Given the description of an element on the screen output the (x, y) to click on. 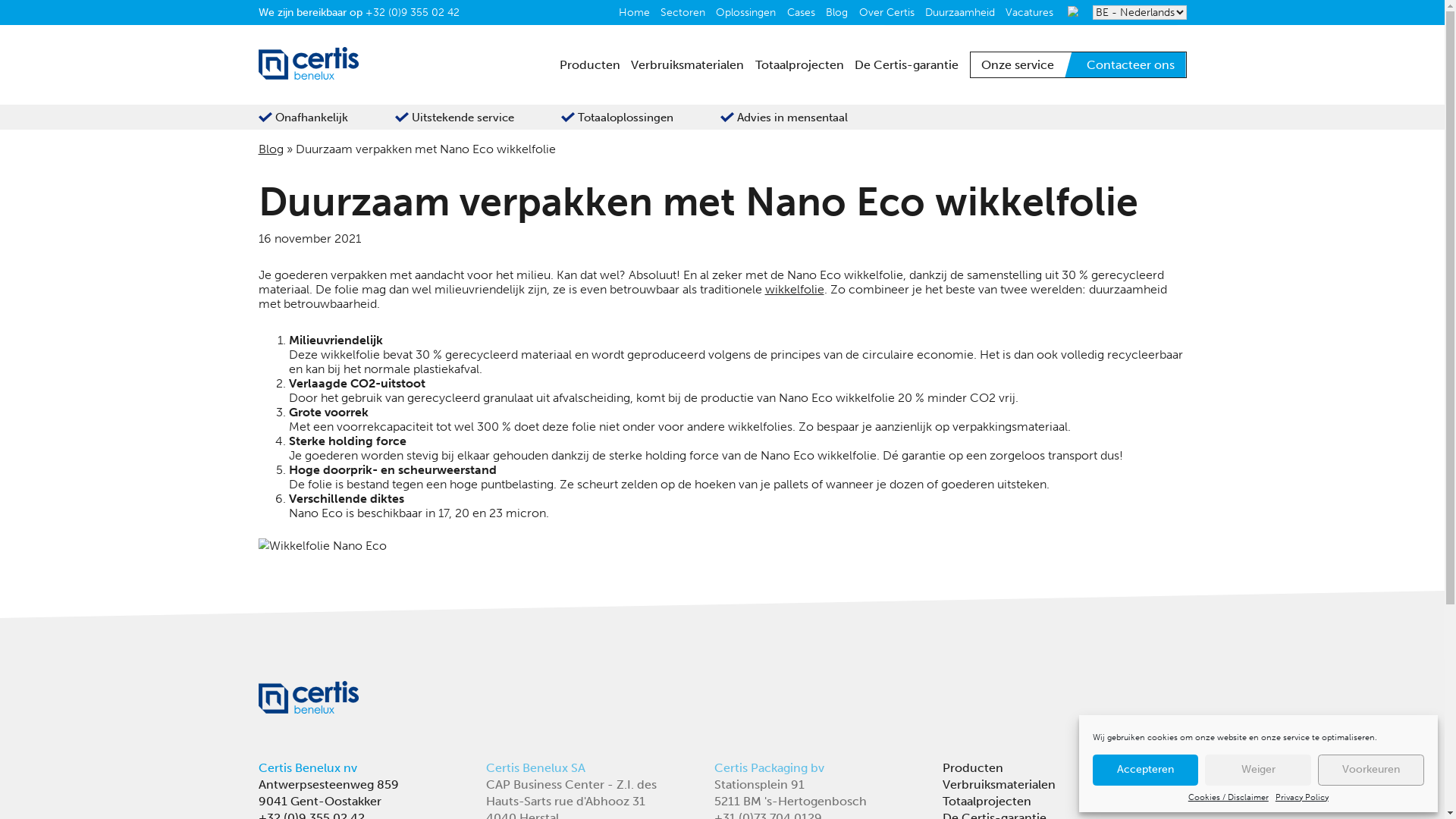
Oplossingen Element type: text (834, 13)
Home Element type: text (710, 13)
Blog Element type: text (935, 13)
Verbruiksmaterialen Element type: text (770, 71)
Duurzaamheid Element type: text (1072, 13)
Over Certis Element type: text (990, 13)
Vacatures Element type: text (1150, 13)
De Certis-garantie Element type: text (1012, 71)
Contacteer ons Element type: text (1250, 71)
We zijn bereikbaar op +32 (0)9 355 02 42 Element type: text (397, 13)
Cases Element type: text (895, 13)
Totaalprojecten Element type: text (893, 71)
Onze service Element type: text (1130, 71)
Producten Element type: text (661, 71)
Sectoren Element type: text (765, 13)
wikkelfolie Element type: text (883, 321)
Blog Element type: text (300, 165)
